Given the description of an element on the screen output the (x, y) to click on. 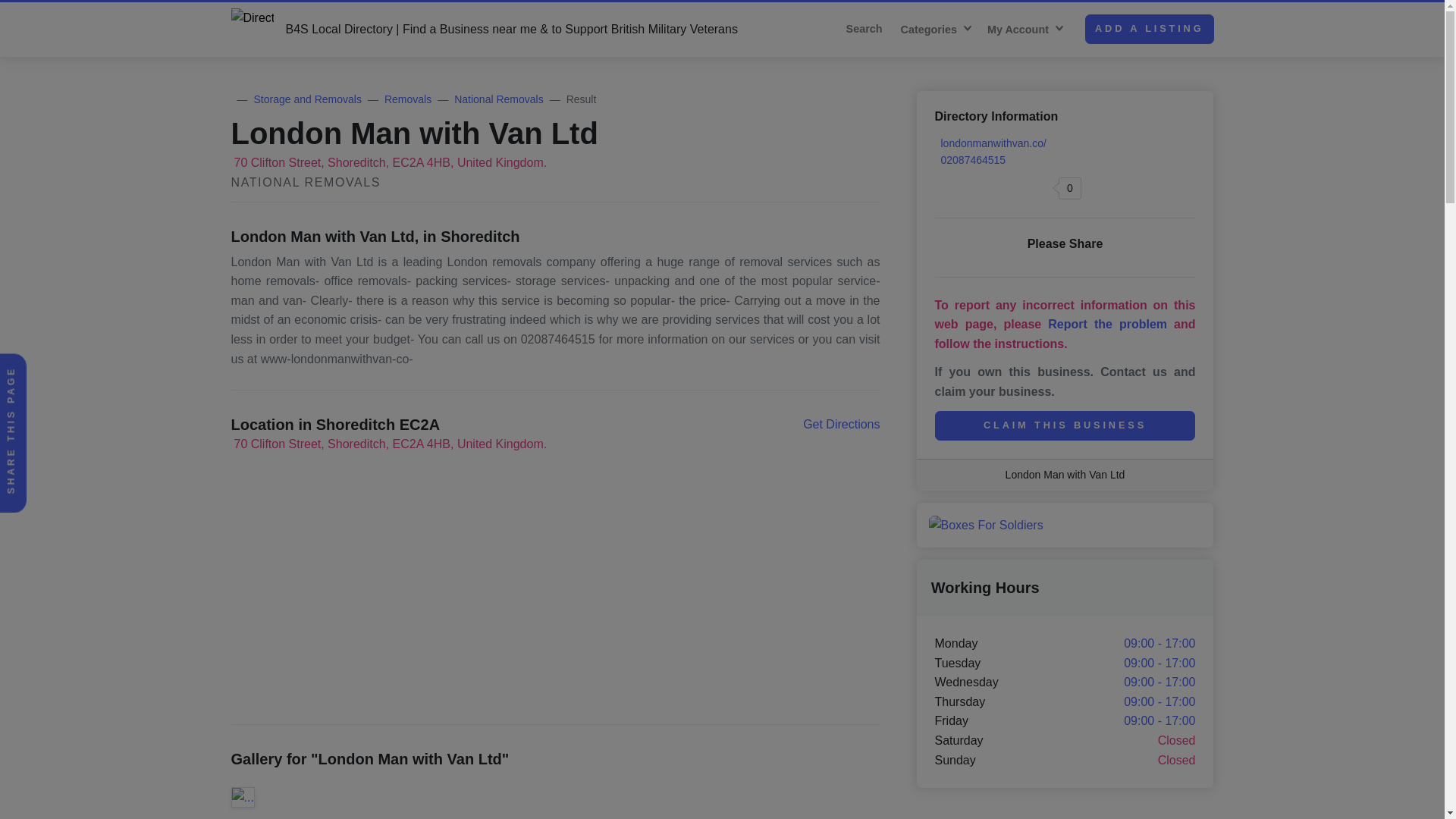
Website (992, 143)
Storage and Removals (307, 99)
Search For A Product On This Website (867, 29)
CLAIM THIS BUSINESS (1064, 425)
National Removals (498, 99)
Mobile Number (970, 159)
Get Directions (841, 424)
Removals (407, 99)
70 Clifton Street, Shoreditch, EC2A 4HB, United Kingdom. (388, 162)
02087464515 (970, 159)
